Given the description of an element on the screen output the (x, y) to click on. 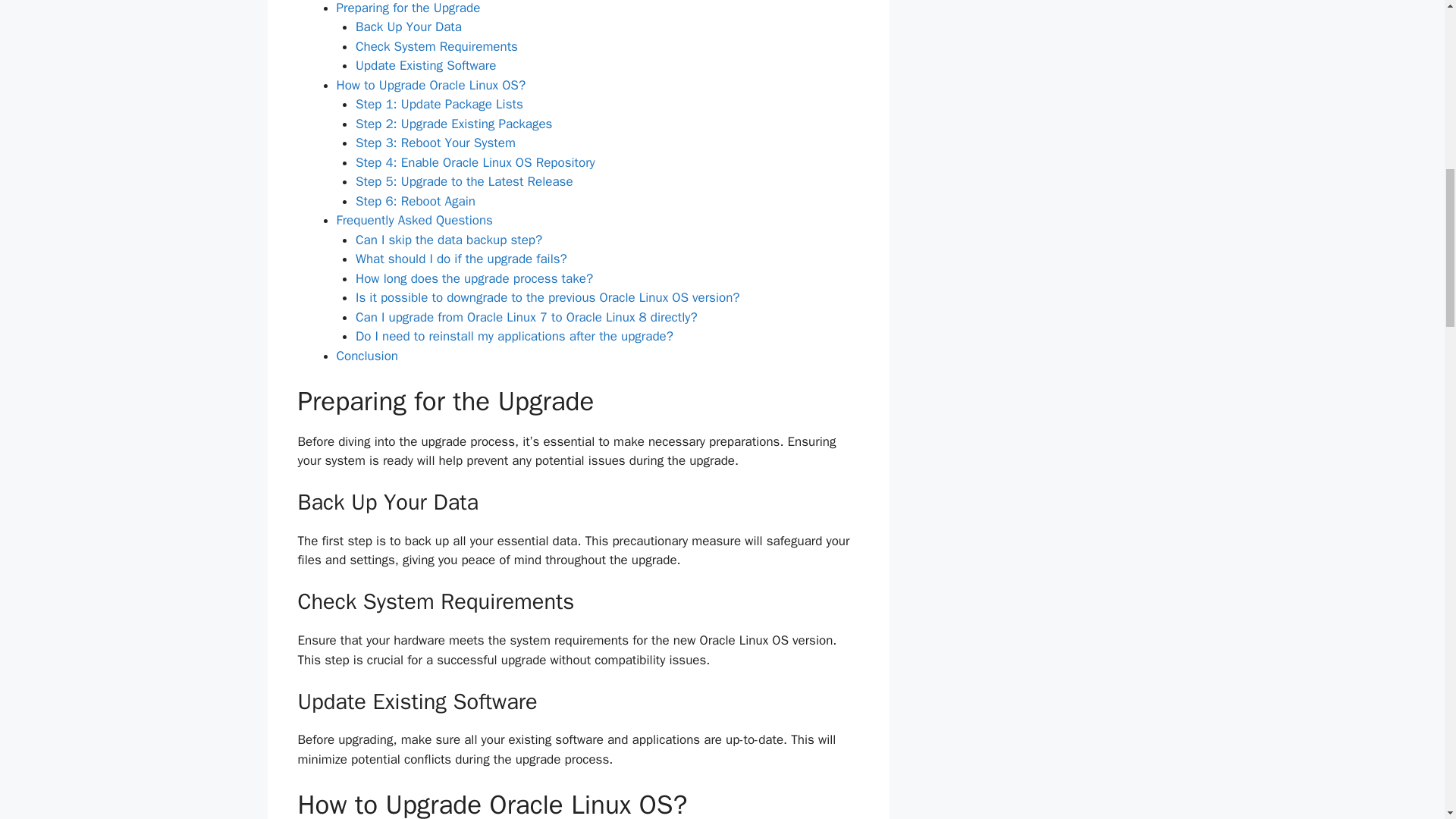
Check System Requirements (436, 46)
Update Existing Software (425, 65)
Step 1: Update Package Lists (438, 104)
Do I need to reinstall my applications after the upgrade? (513, 335)
Step 3: Reboot Your System (435, 142)
Step 6: Reboot Again (415, 201)
Frequently Asked Questions (414, 220)
How to Upgrade Oracle Linux OS? (430, 84)
Step 2: Upgrade Existing Packages (453, 123)
